Given the description of an element on the screen output the (x, y) to click on. 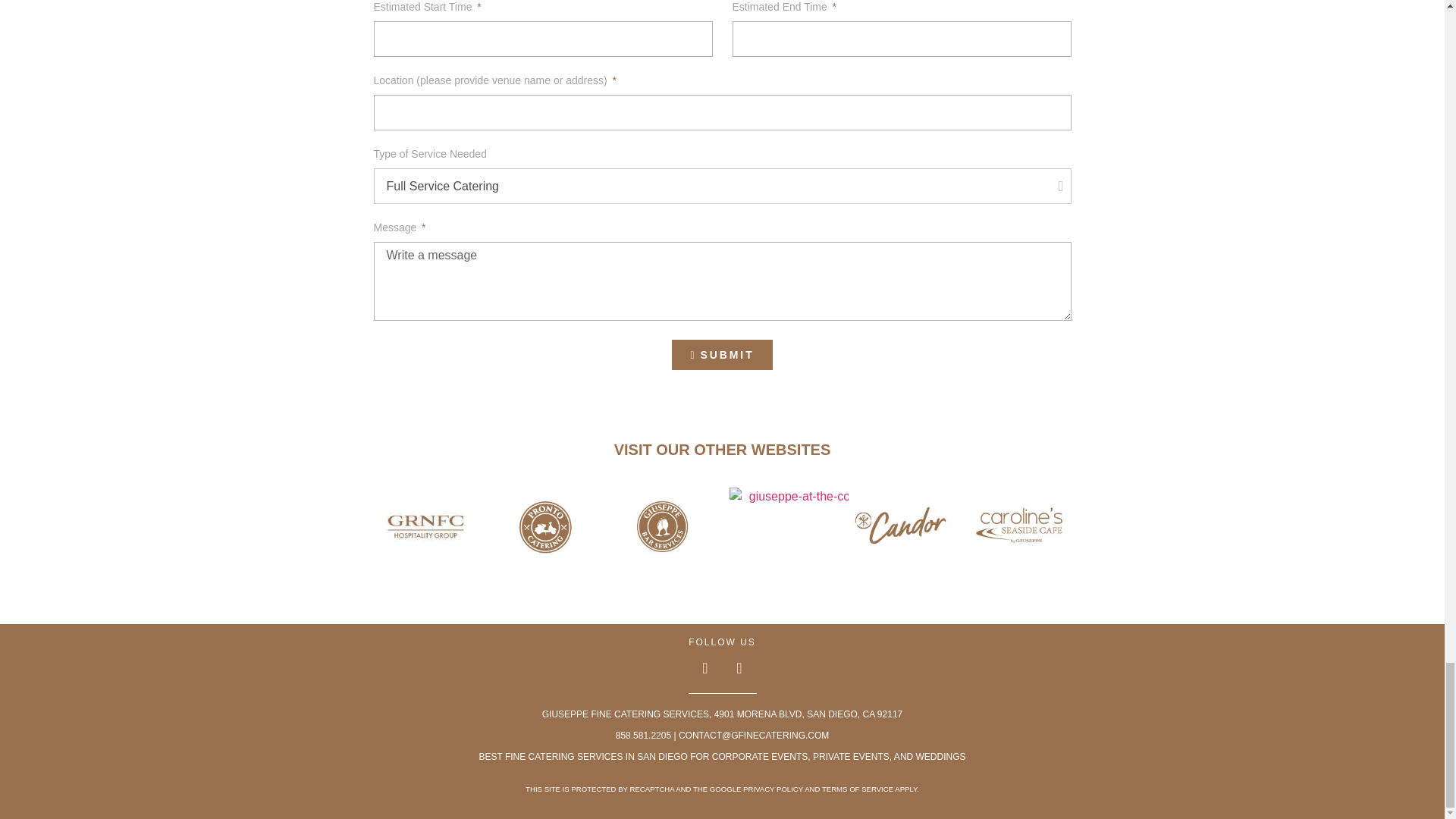
SUBMIT (721, 354)
PRIVACY POLICY (772, 788)
TERMS OF SERVICE (857, 788)
